Given the description of an element on the screen output the (x, y) to click on. 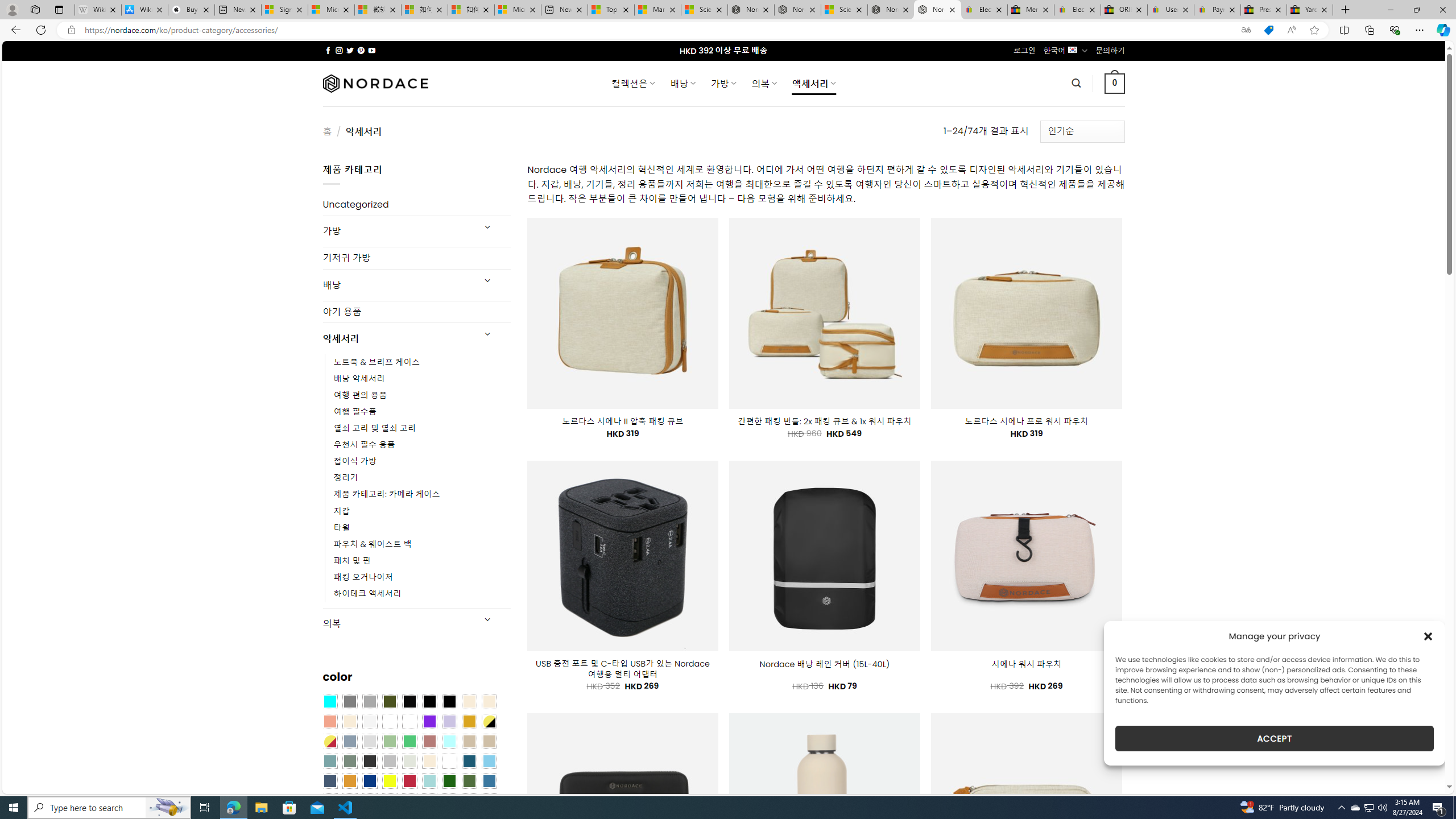
  0   (1115, 83)
Follow on Instagram (338, 50)
Uncategorized (416, 204)
